Given the description of an element on the screen output the (x, y) to click on. 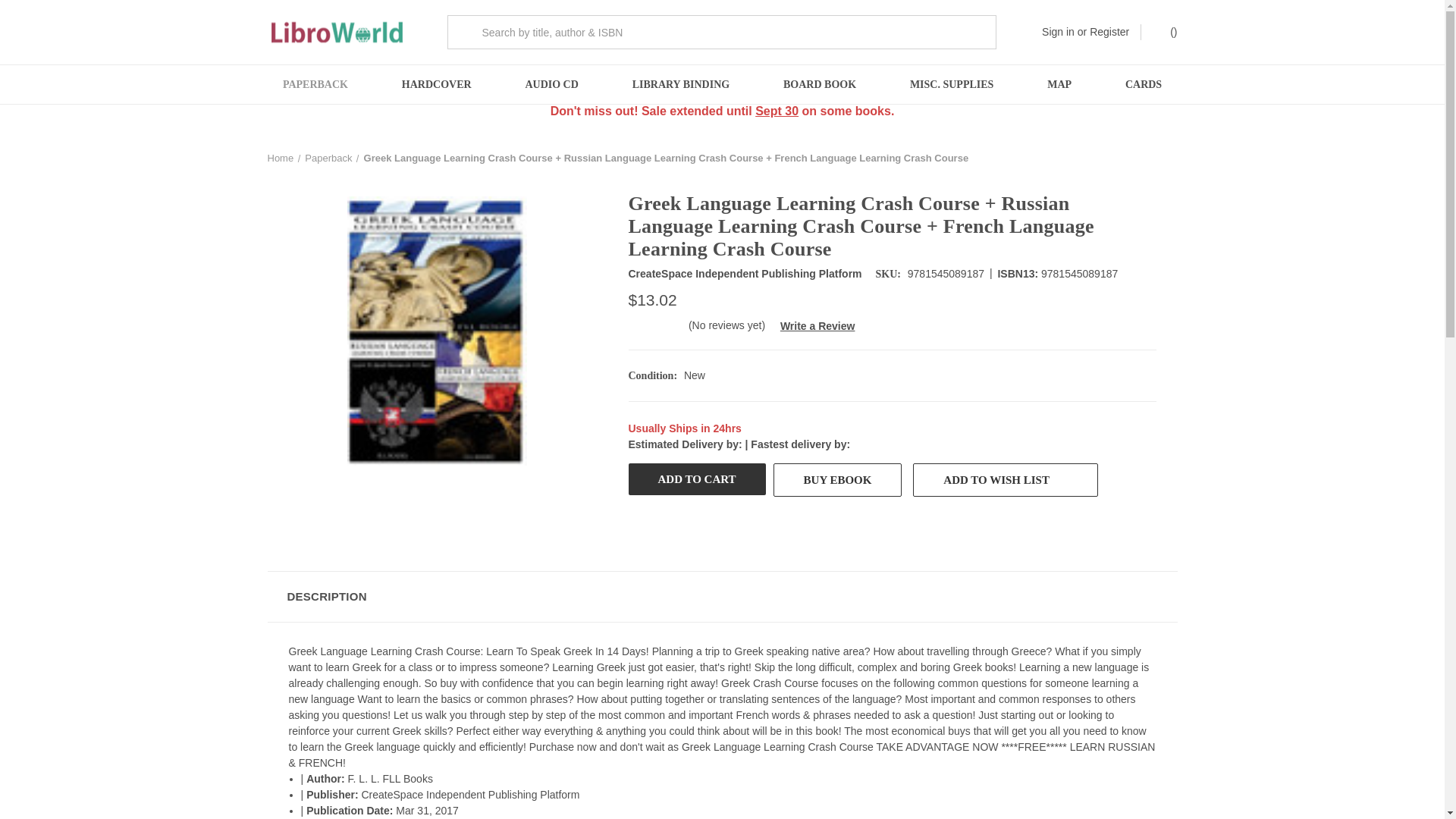
LibroWorld.com (336, 32)
Add to Cart (696, 479)
Register (1109, 32)
Sign in (1058, 32)
PAPERBACK (315, 84)
